Given the description of an element on the screen output the (x, y) to click on. 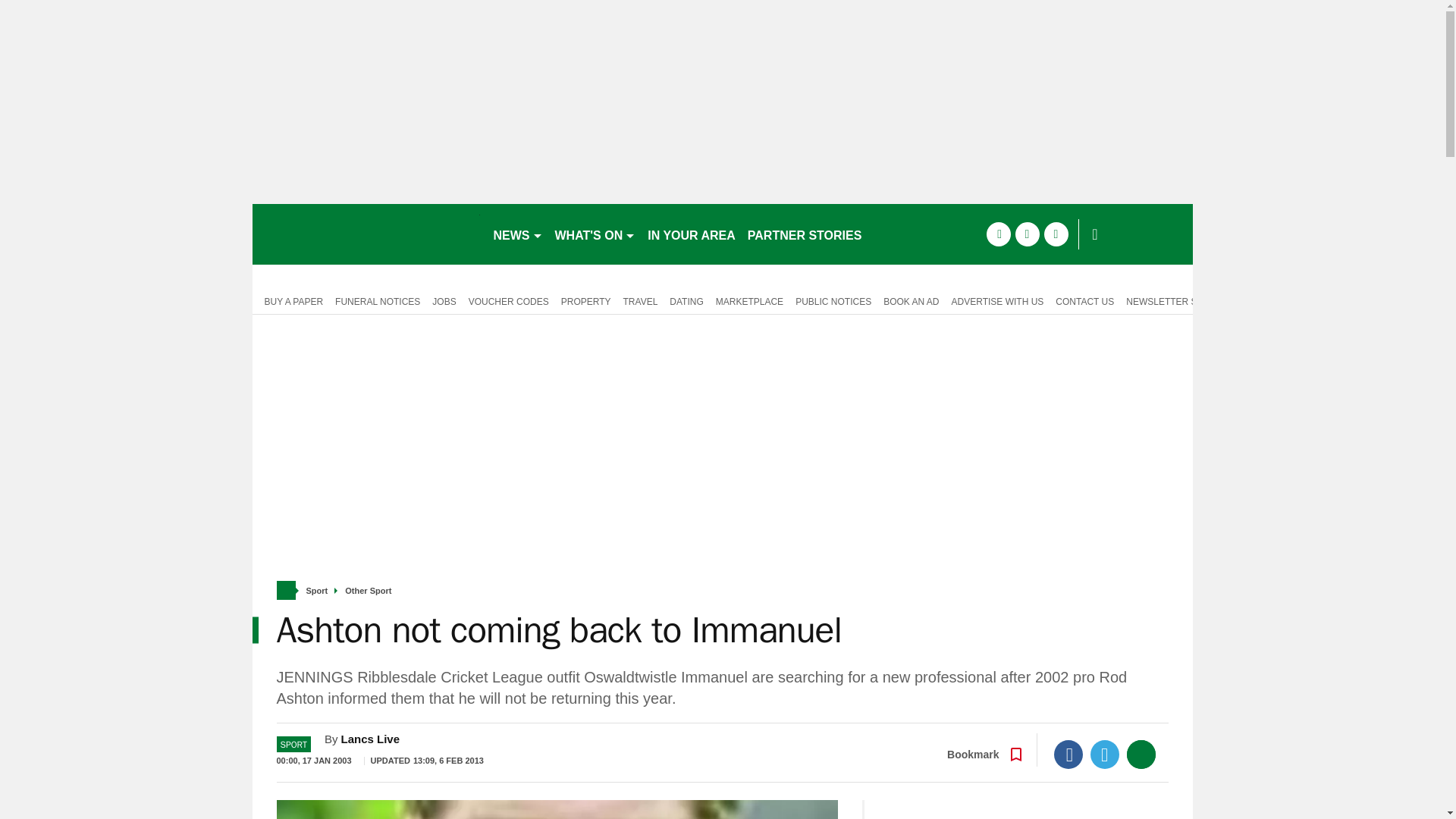
BOOK AN AD (910, 300)
facebook (997, 233)
Twitter (1104, 754)
ADVERTISE WITH US (996, 300)
DATING (686, 300)
FUNERAL NOTICES (377, 300)
PUBLIC NOTICES (833, 300)
Facebook (1068, 754)
PARTNER STORIES (804, 233)
MARKETPLACE (749, 300)
